Given the description of an element on the screen output the (x, y) to click on. 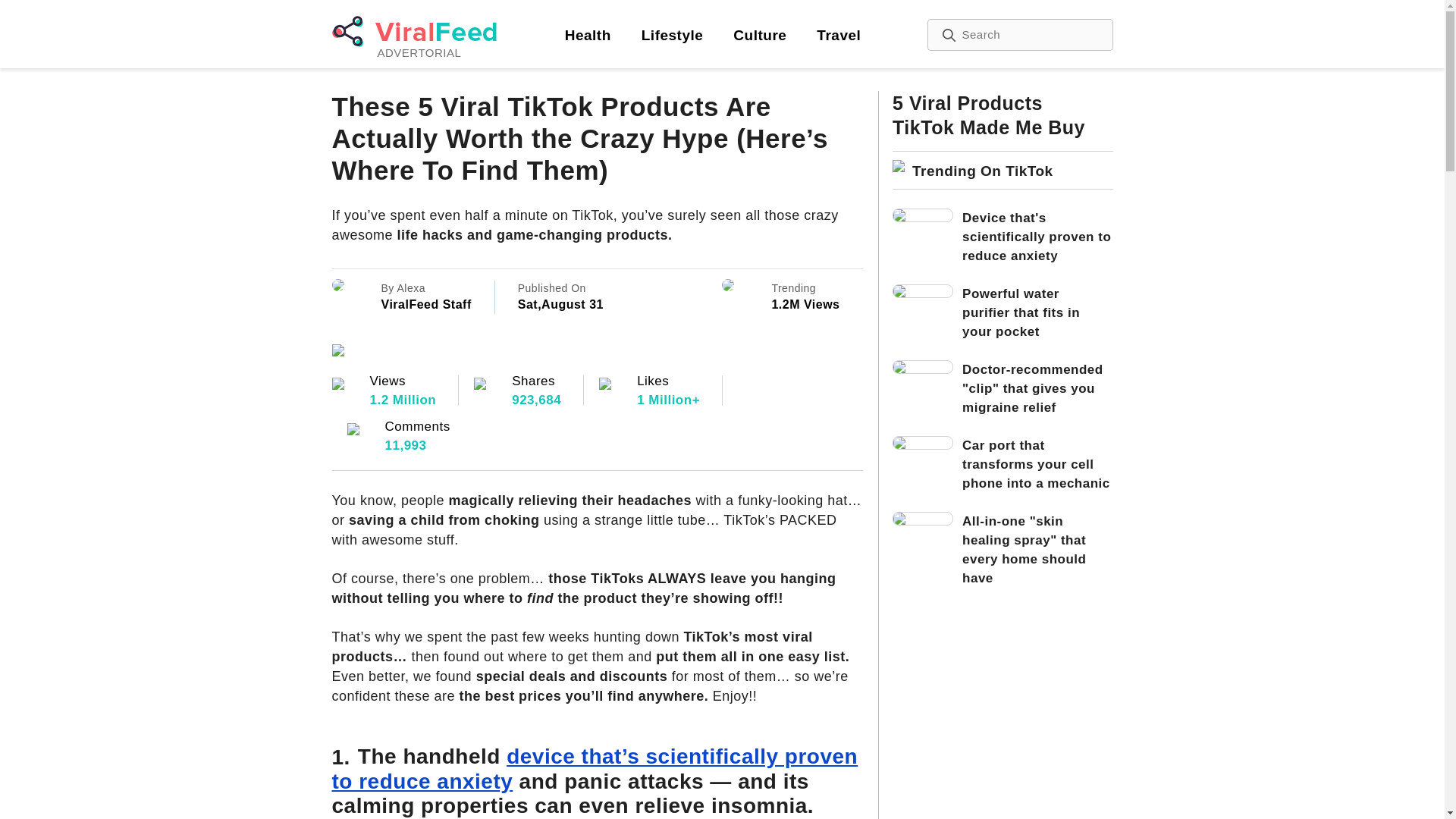
Lifestyle (672, 35)
Travel (713, 35)
Culture (838, 35)
Health (759, 35)
